Given the description of an element on the screen output the (x, y) to click on. 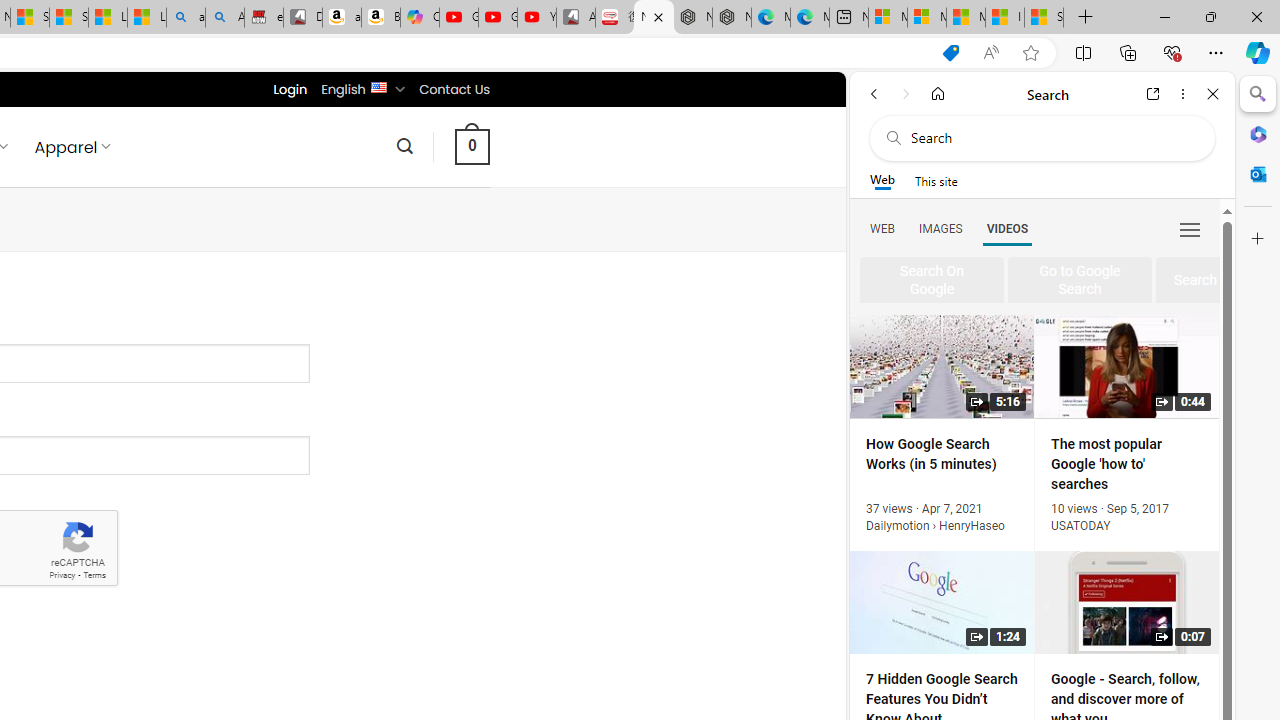
VIDEOS (1007, 228)
English (377, 86)
Preferences (1189, 228)
  0   (472, 146)
This site has coupons! Shopping in Microsoft Edge (950, 53)
Microsoft 365 (1258, 133)
